Given the description of an element on the screen output the (x, y) to click on. 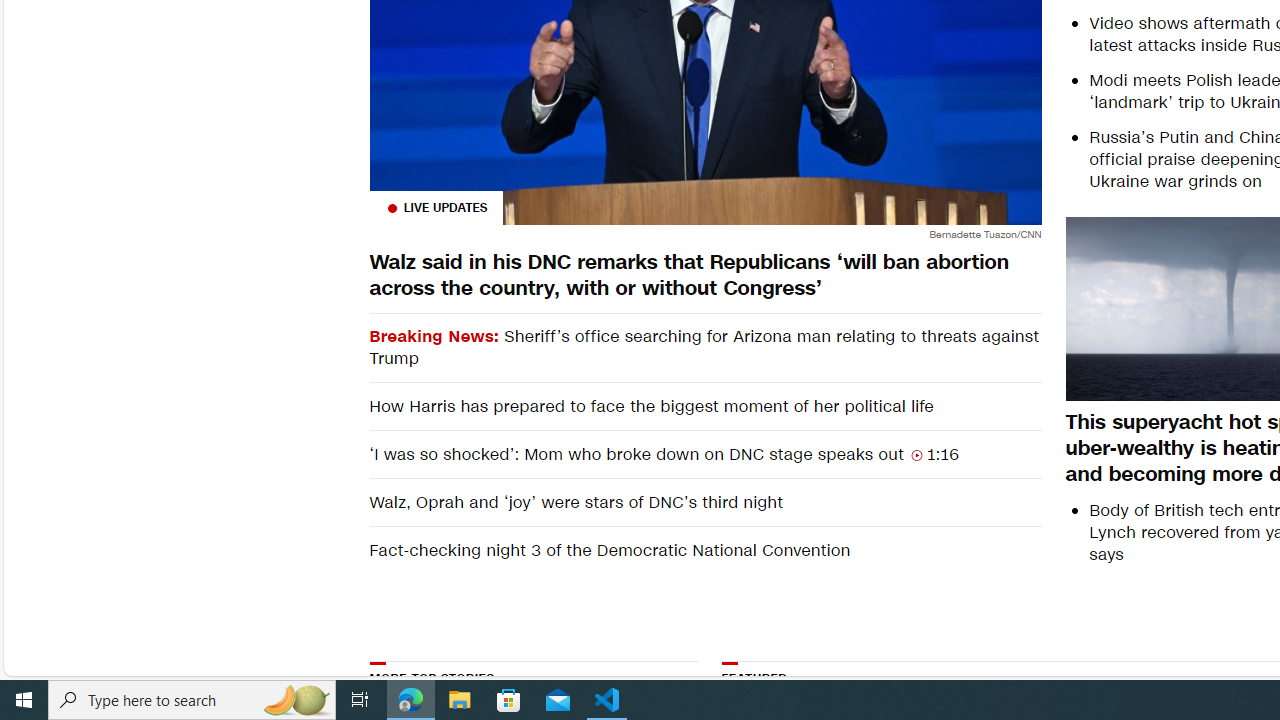
Visual Studio Code - 1 running window (607, 699)
Microsoft Edge - 1 running window (411, 699)
Task View (359, 699)
Fact-checking night 3 of the Democratic National Convention (704, 550)
Microsoft Store (509, 699)
Start (24, 699)
File Explorer (460, 699)
Type here to search (191, 699)
Class: container__video-duration-icon (916, 454)
